Given the description of an element on the screen output the (x, y) to click on. 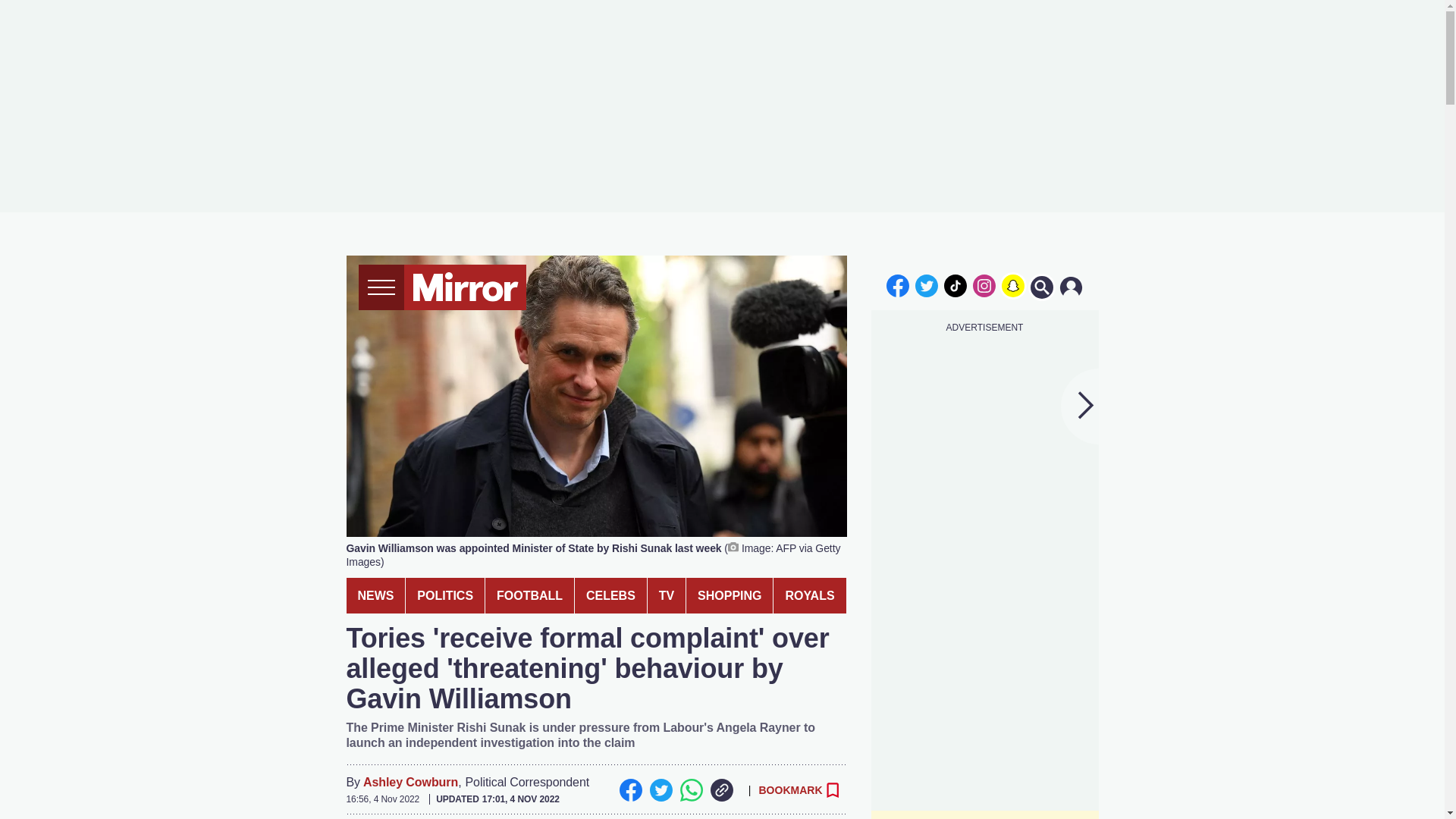
POLITICS (445, 595)
snapchat (1012, 285)
FOOTBALL (528, 595)
TV (666, 595)
tiktok (955, 285)
Facebook (630, 789)
facebook (897, 285)
instagram (984, 285)
Twitter (660, 789)
NEWS (375, 595)
